Given the description of an element on the screen output the (x, y) to click on. 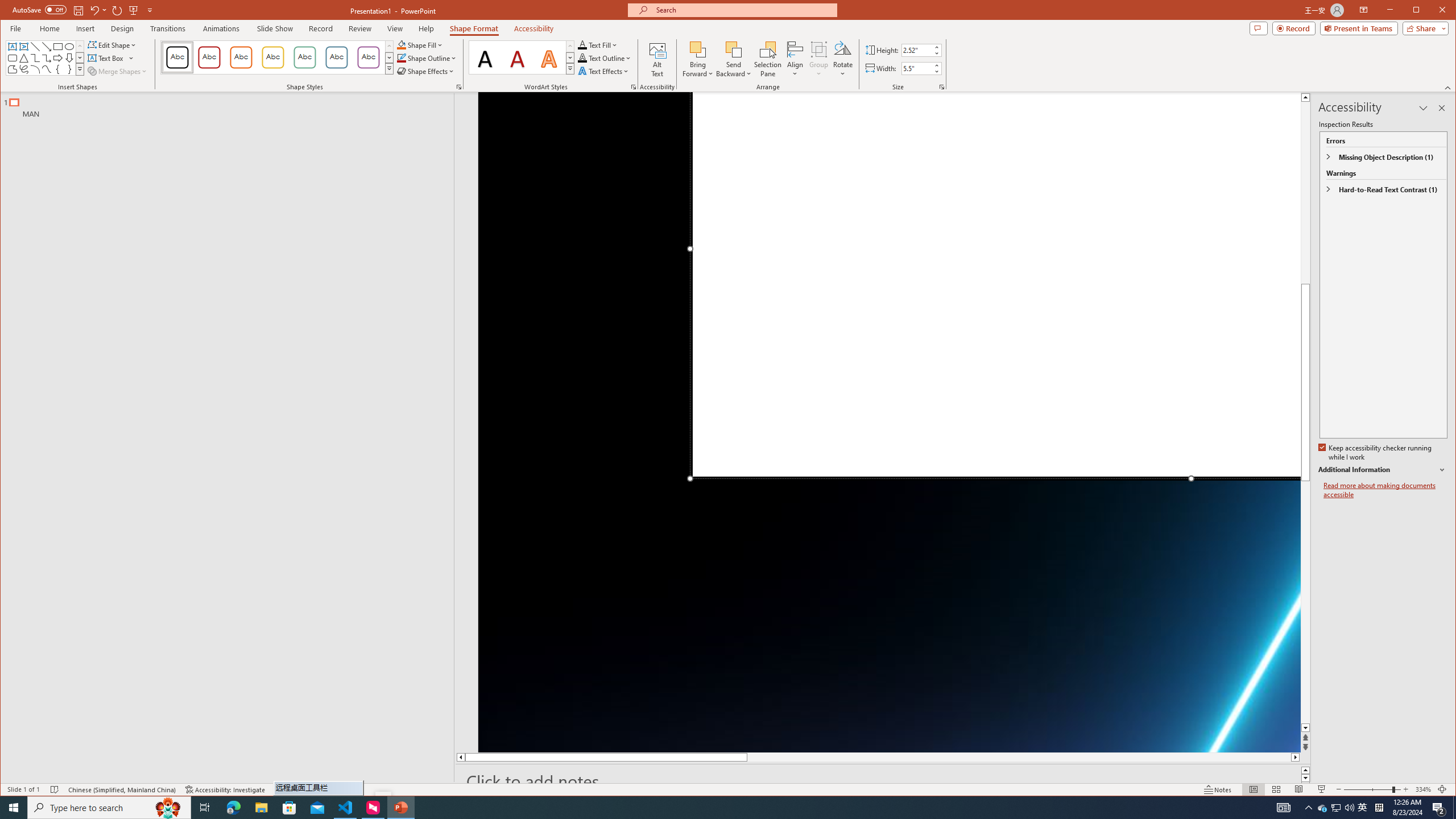
Fill: Dark Red, Accent color 1; Shadow (517, 57)
Fill: Black, Text color 1; Shadow (486, 57)
Format Text Effects... (632, 86)
Text Fill (598, 44)
More (935, 64)
Shape Format (473, 28)
